Given the description of an element on the screen output the (x, y) to click on. 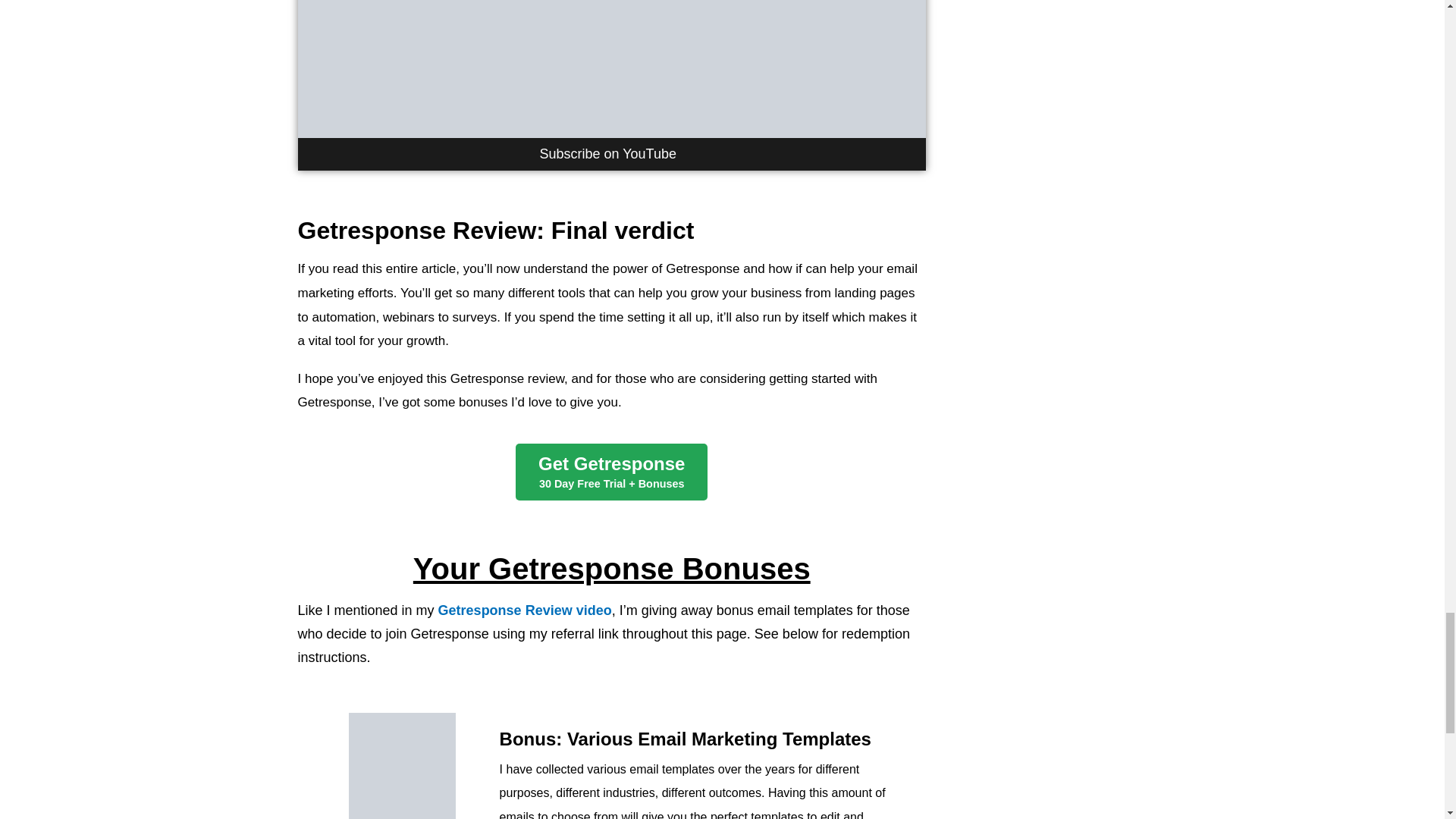
Getresponse Review video (524, 610)
